Given the description of an element on the screen output the (x, y) to click on. 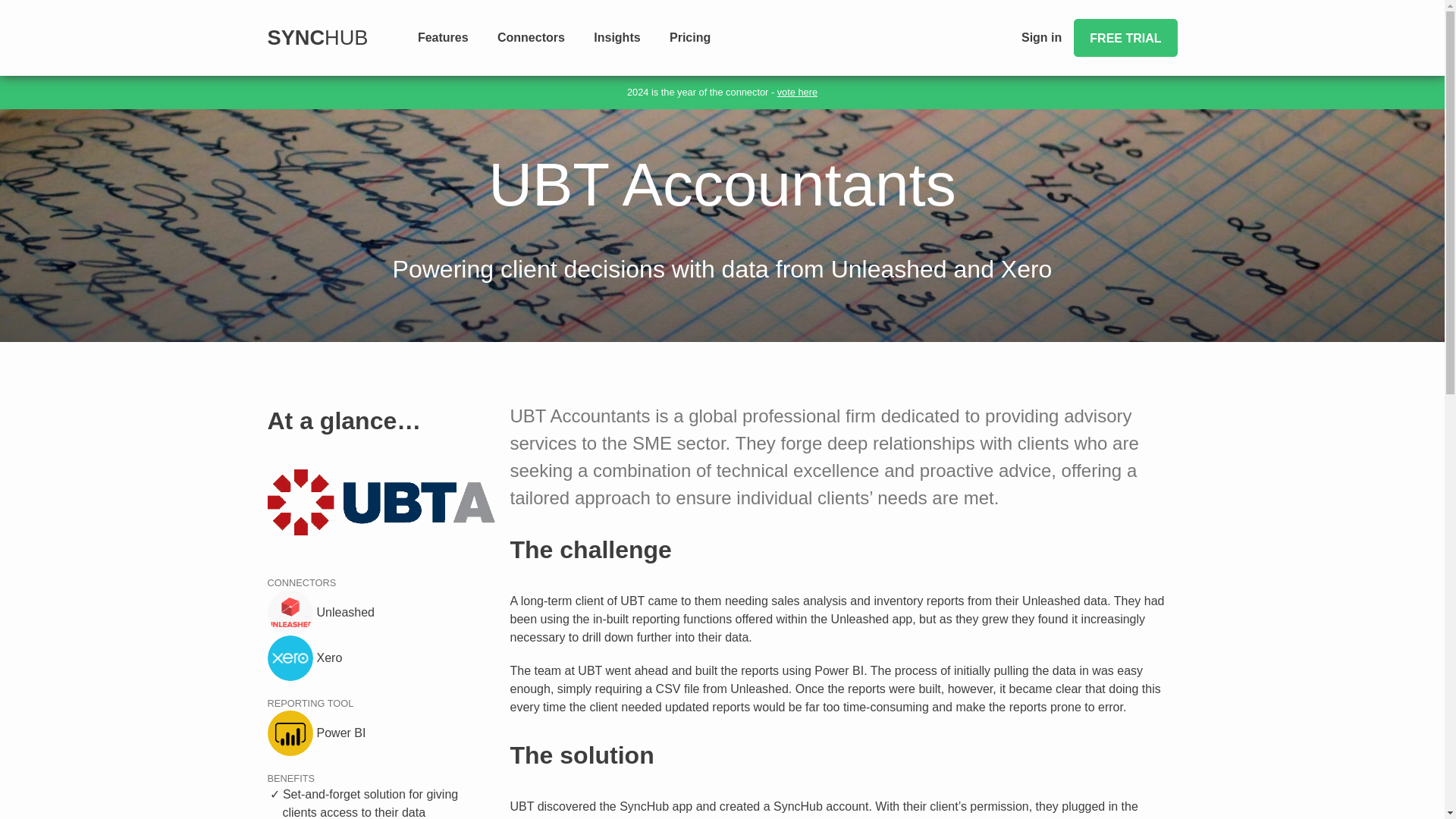
Features (442, 37)
Insights (617, 37)
FREE TRIAL (1125, 37)
Sign in (1041, 37)
Connectors (530, 37)
Insights (617, 37)
vote here (796, 91)
Features (442, 37)
Pricing (689, 37)
Connectors (530, 37)
Get started (1125, 37)
Sign in (1041, 37)
Pricing (689, 37)
